Given the description of an element on the screen output the (x, y) to click on. 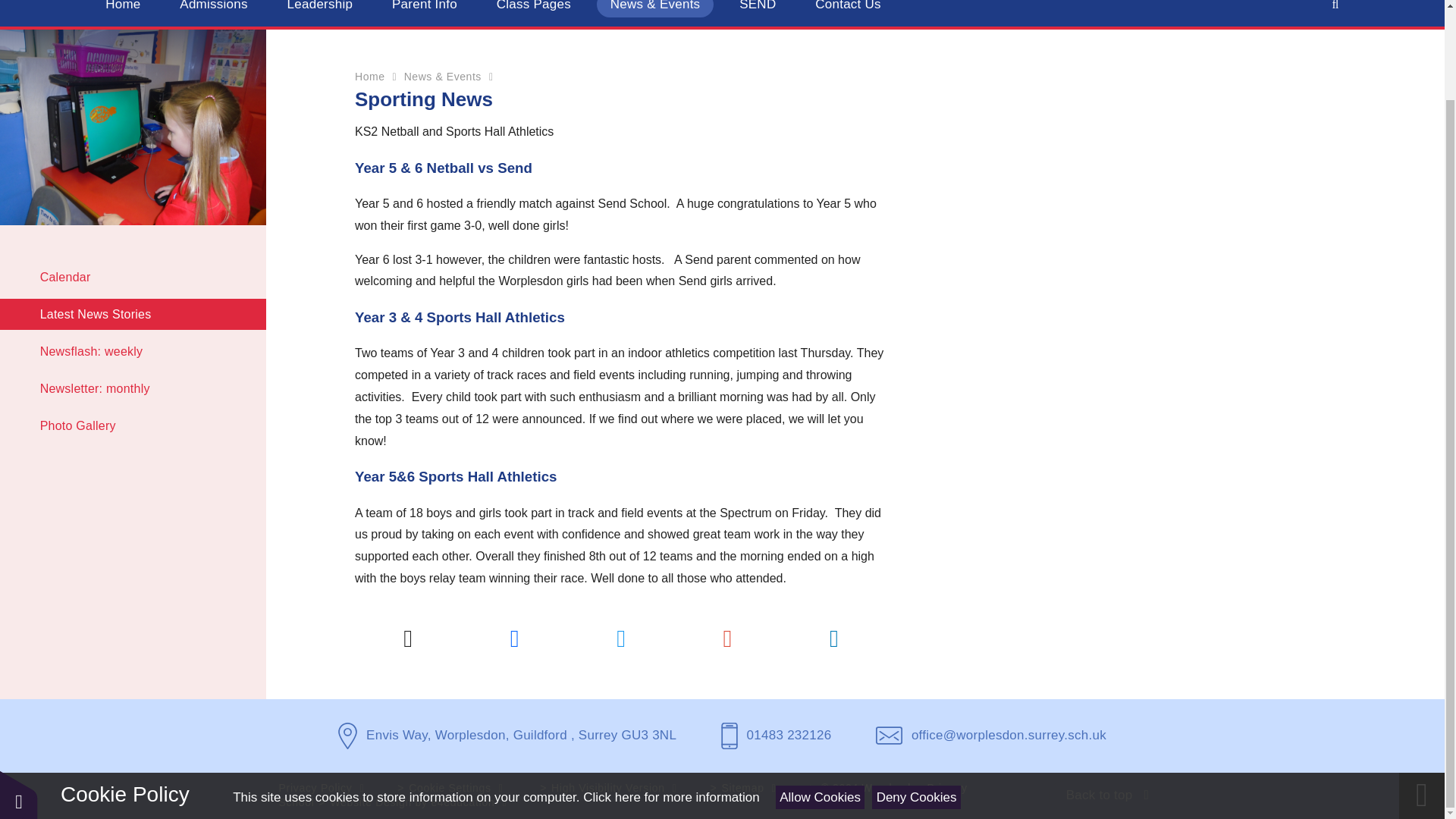
Leadership (319, 8)
See cookie policy (670, 694)
Admissions (212, 8)
Cookie Settings (460, 787)
Deny Cookies (915, 694)
Allow Cookies (820, 694)
Home (122, 8)
